Given the description of an element on the screen output the (x, y) to click on. 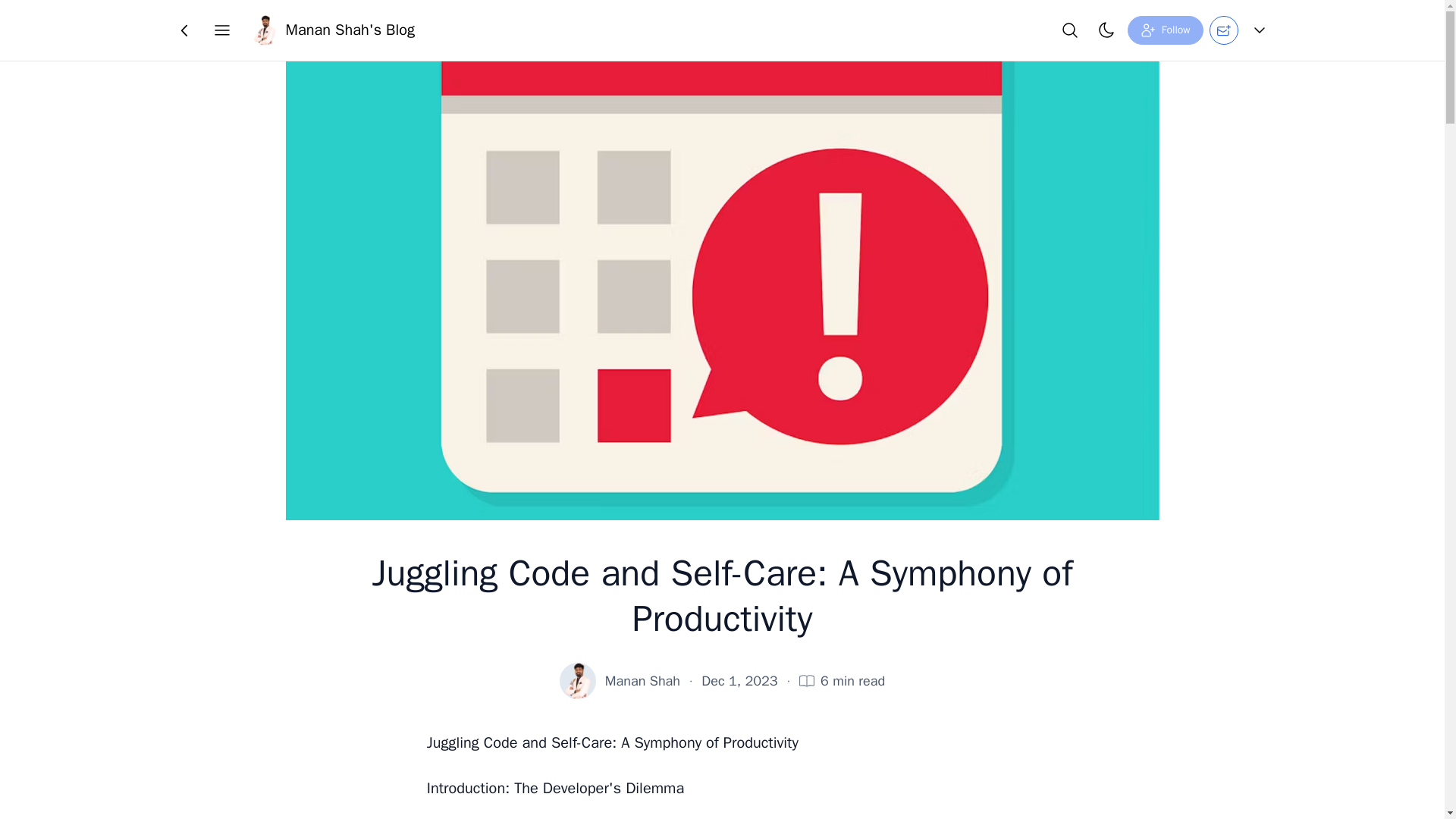
Manan Shah (642, 680)
Dec 1, 2023 (739, 680)
Manan Shah's Blog (331, 30)
Follow (1165, 30)
